Given the description of an element on the screen output the (x, y) to click on. 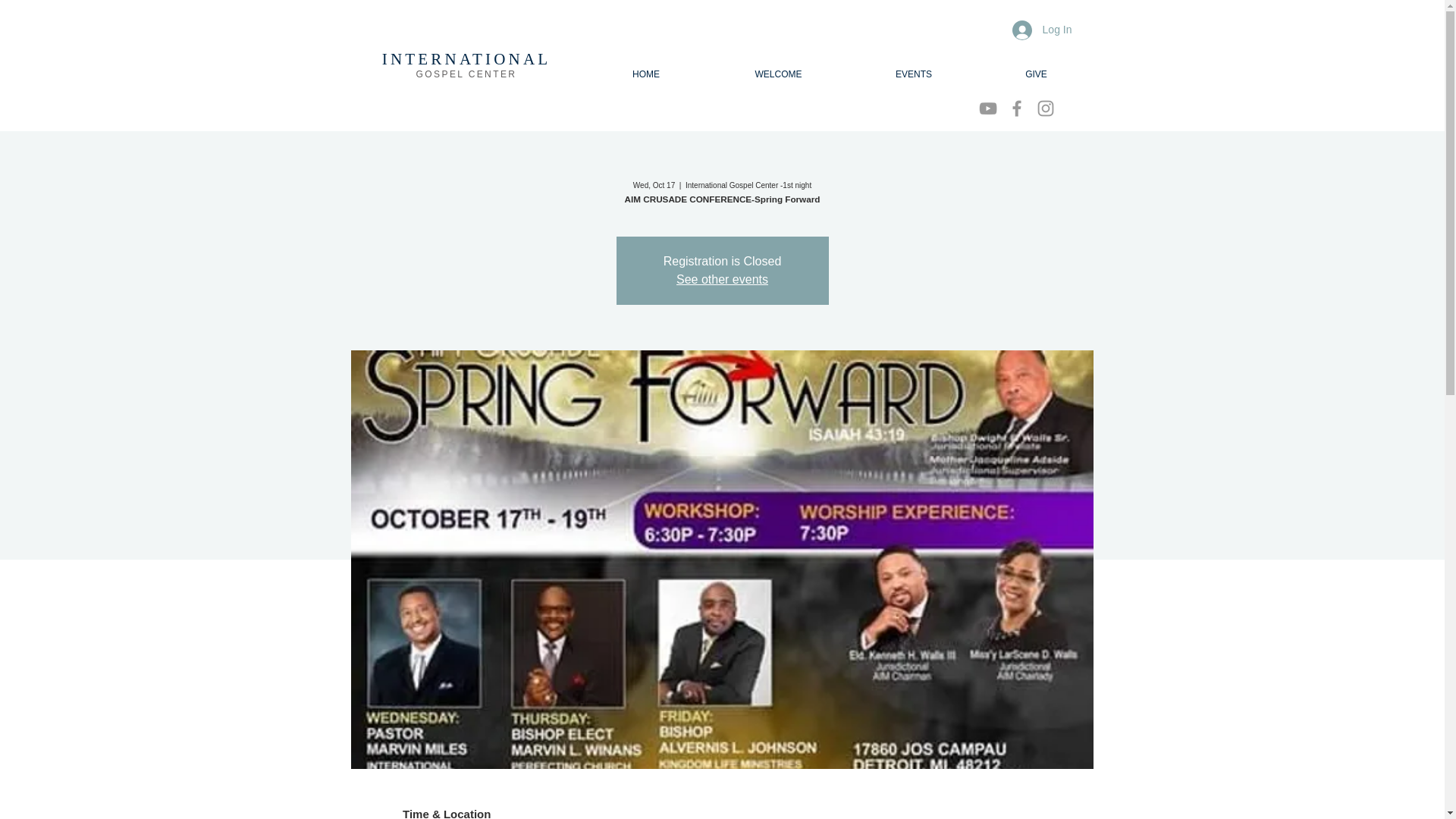
EVENTS (913, 74)
GIVE (1035, 74)
Log In (1042, 30)
HOME (645, 74)
See other events (722, 278)
INTERNATIONAL (466, 58)
WELCOME (777, 74)
